Given the description of an element on the screen output the (x, y) to click on. 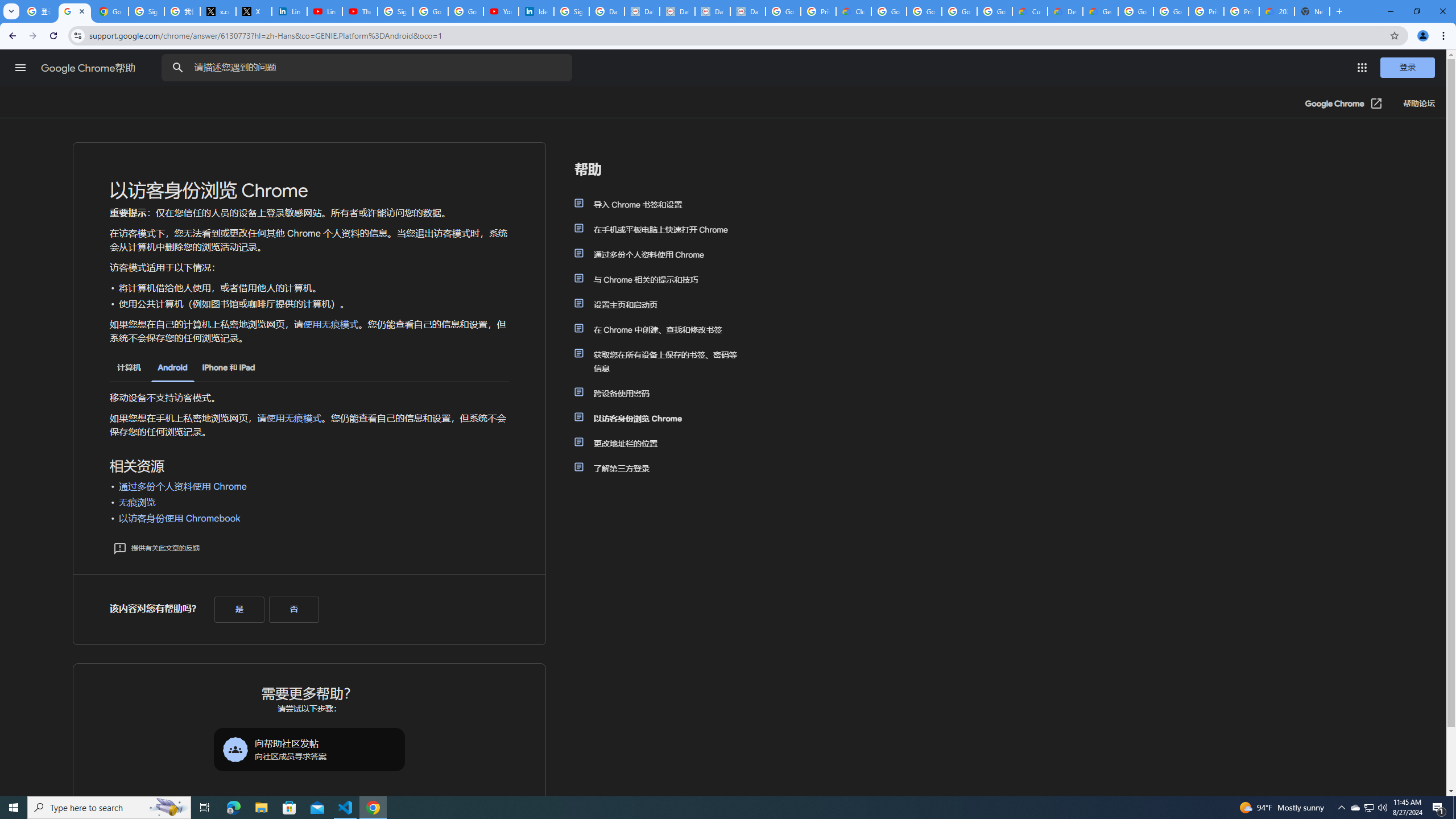
Google Workspace - Specific Terms (959, 11)
LinkedIn - YouTube (324, 11)
Android (172, 368)
Gemini for Business and Developers | Google Cloud (1099, 11)
Identity verification via Persona | LinkedIn Help (536, 11)
